Given the description of an element on the screen output the (x, y) to click on. 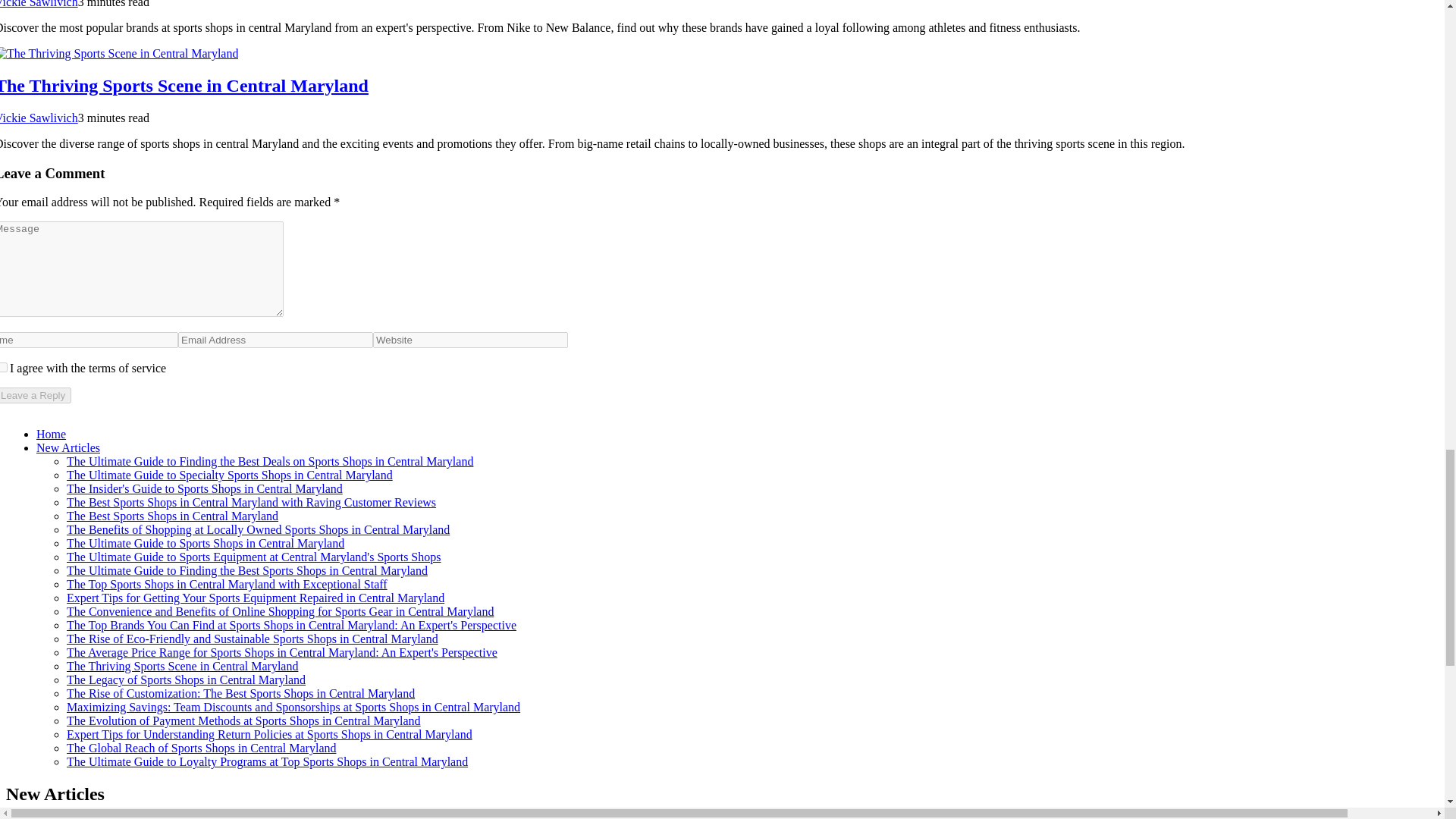
Vickie Sawlivich (39, 117)
Leave a Reply (35, 395)
The Best Sports Shops in Central Maryland (172, 515)
The Ultimate Guide to Sports Shops in Central Maryland (204, 543)
Posts by Vickie Sawlivich (39, 4)
Leave a Reply (35, 395)
New Articles (68, 447)
Posts by Vickie Sawlivich (39, 117)
yes (3, 367)
The Thriving Sports Scene in Central Maryland (184, 85)
The Insider's Guide to Sports Shops in Central Maryland (204, 488)
Vickie Sawlivich (39, 4)
